Given the description of an element on the screen output the (x, y) to click on. 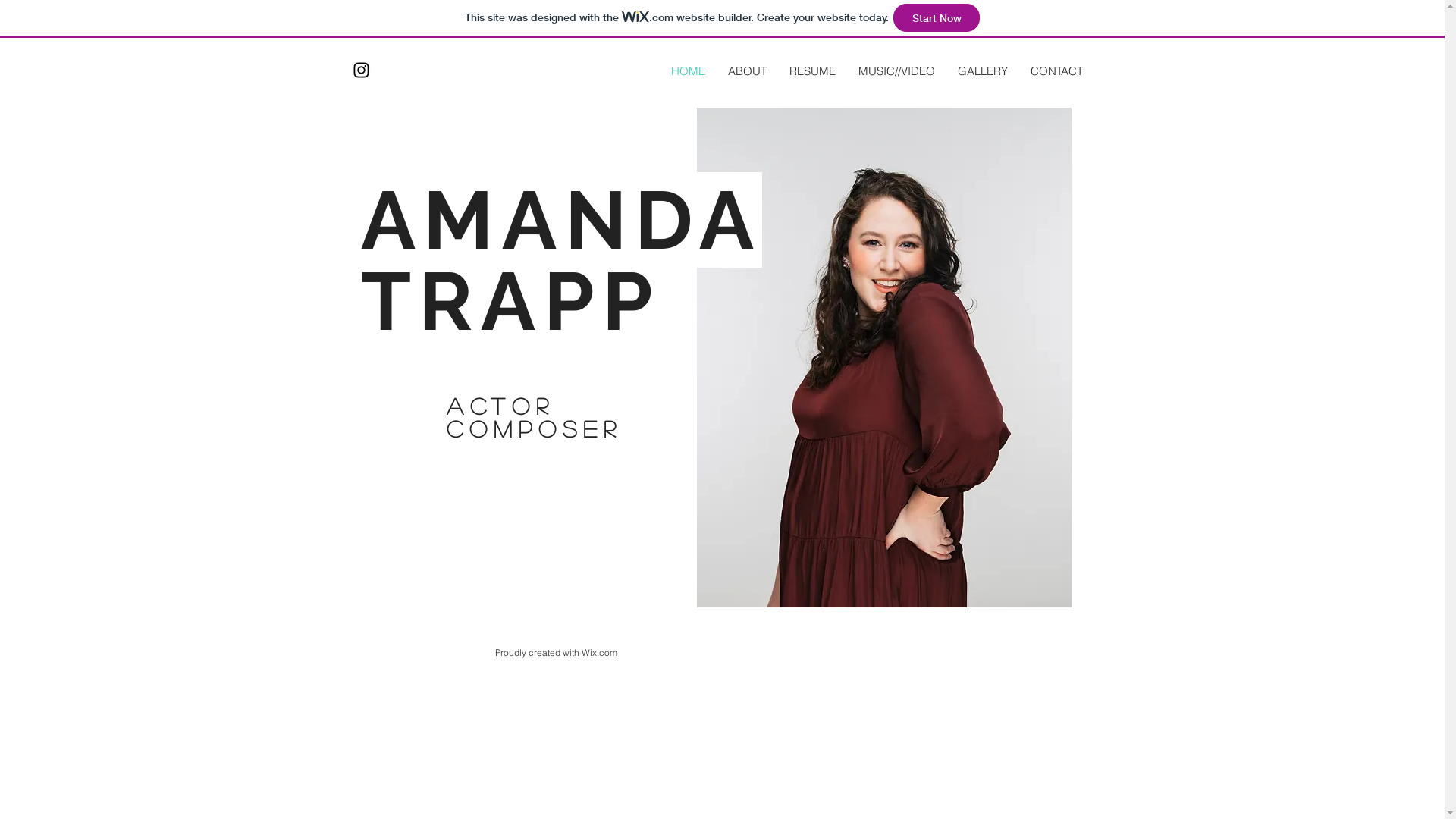
ABOUT Element type: text (746, 70)
RESUME Element type: text (812, 70)
MUSIC//VIDEO Element type: text (895, 70)
GALLERY Element type: text (982, 70)
actor
composer Element type: text (533, 416)
HOME Element type: text (687, 70)
Wix.com Element type: text (598, 652)
CONTACT Element type: text (1056, 70)
